Given the description of an element on the screen output the (x, y) to click on. 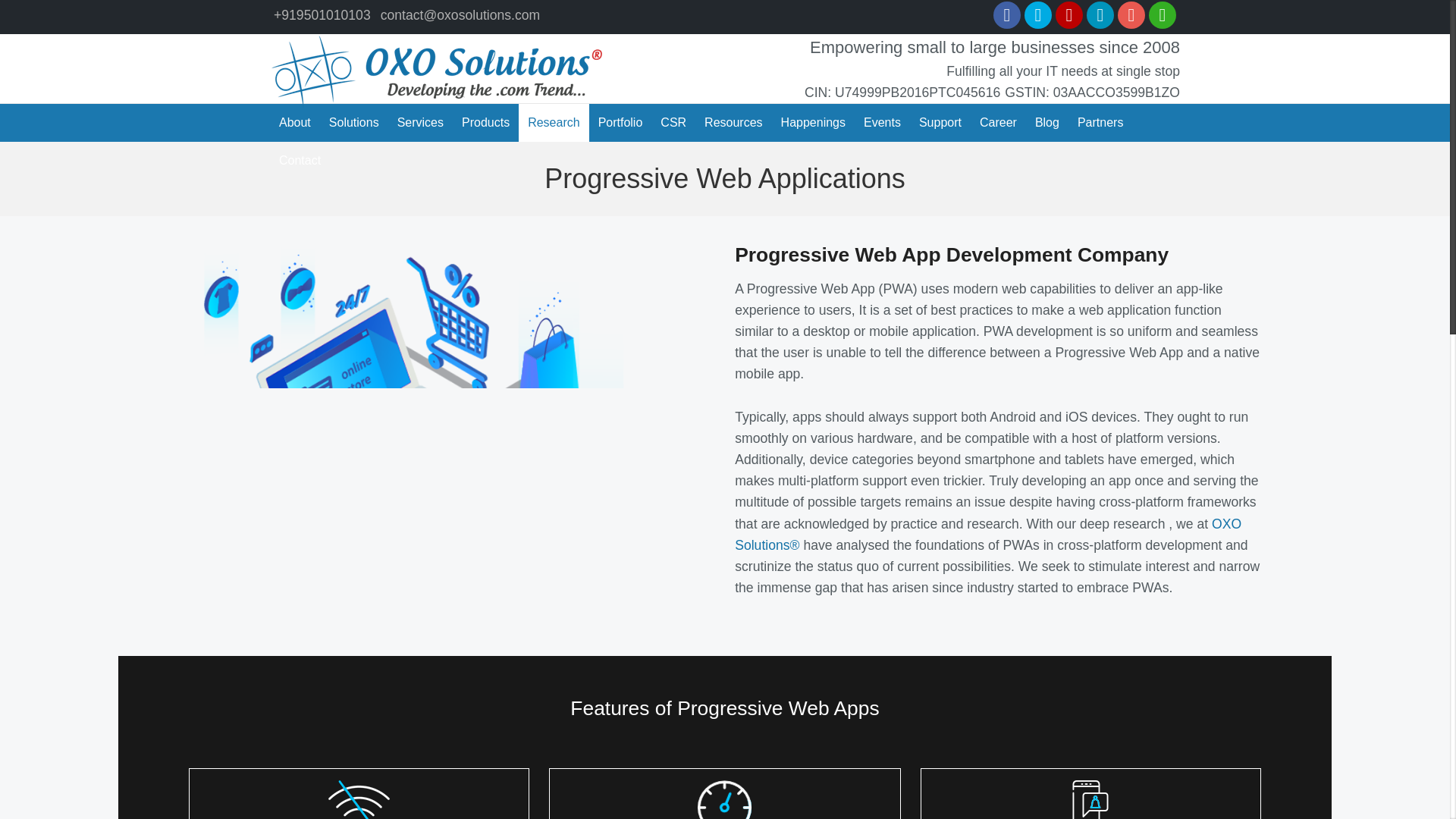
Products (485, 122)
Facebook (1006, 14)
OXO Events (882, 122)
Career (998, 122)
WhatsApp (1162, 14)
Events (882, 122)
Portfolio (620, 122)
Resources (733, 122)
Instagram (1131, 14)
Support (940, 122)
CSR (672, 122)
Services (420, 122)
About (294, 122)
Solutions (354, 122)
Twitter (1038, 14)
